Given the description of an element on the screen output the (x, y) to click on. 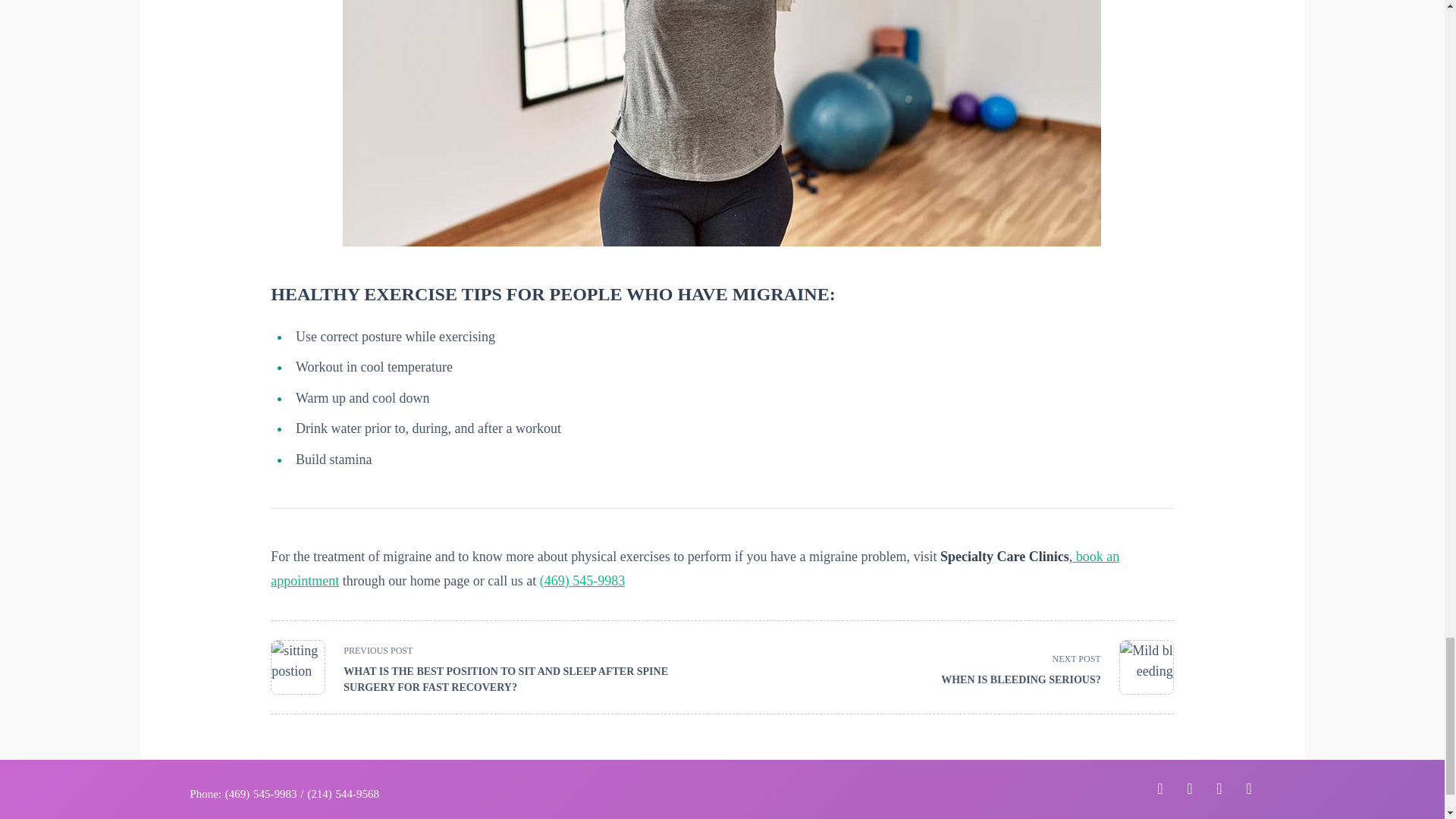
book an appointment (1048, 666)
